Given the description of an element on the screen output the (x, y) to click on. 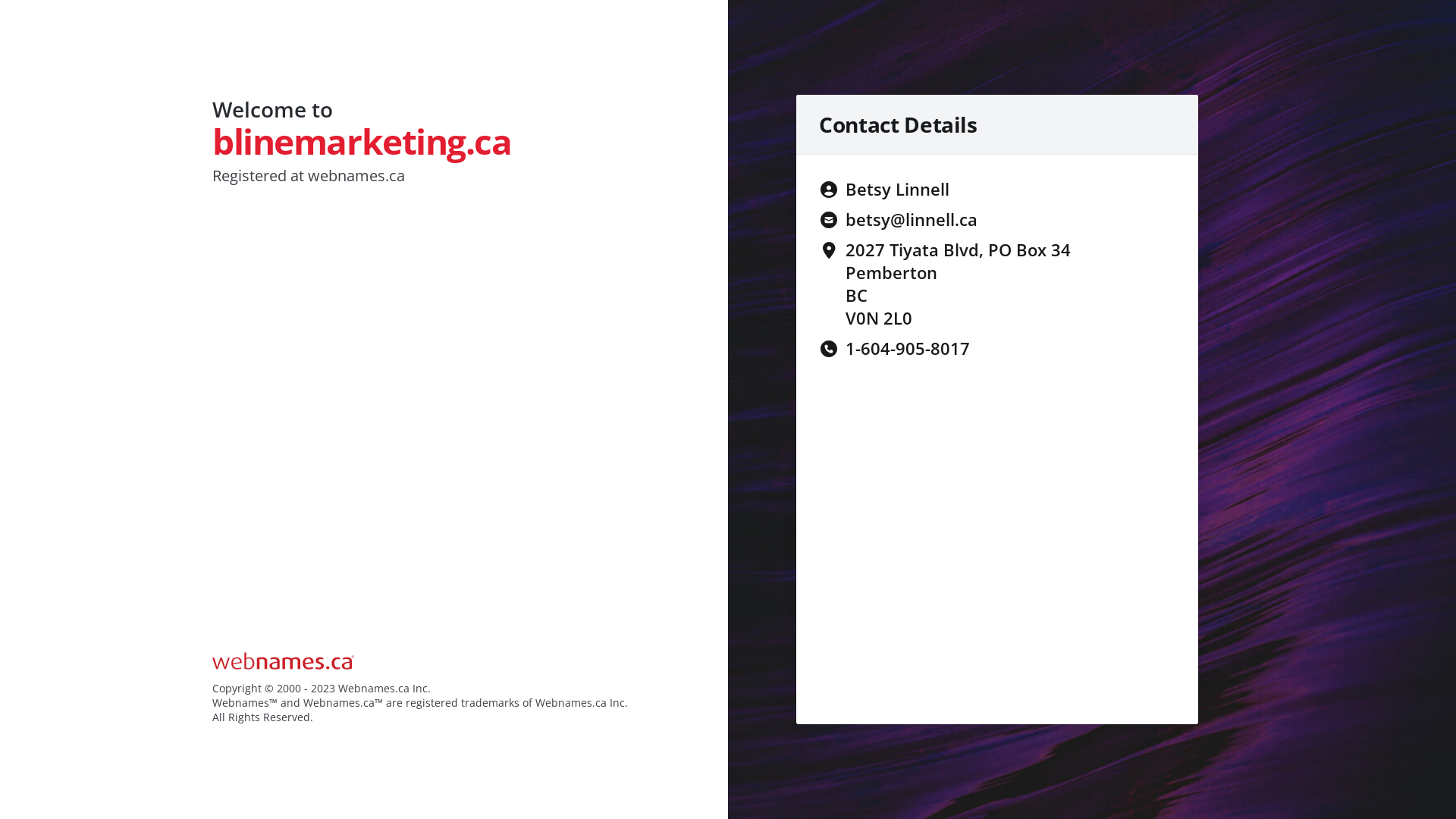
webnames.ca Element type: text (355, 175)
betsy@linnell.ca Element type: text (911, 218)
